Given the description of an element on the screen output the (x, y) to click on. 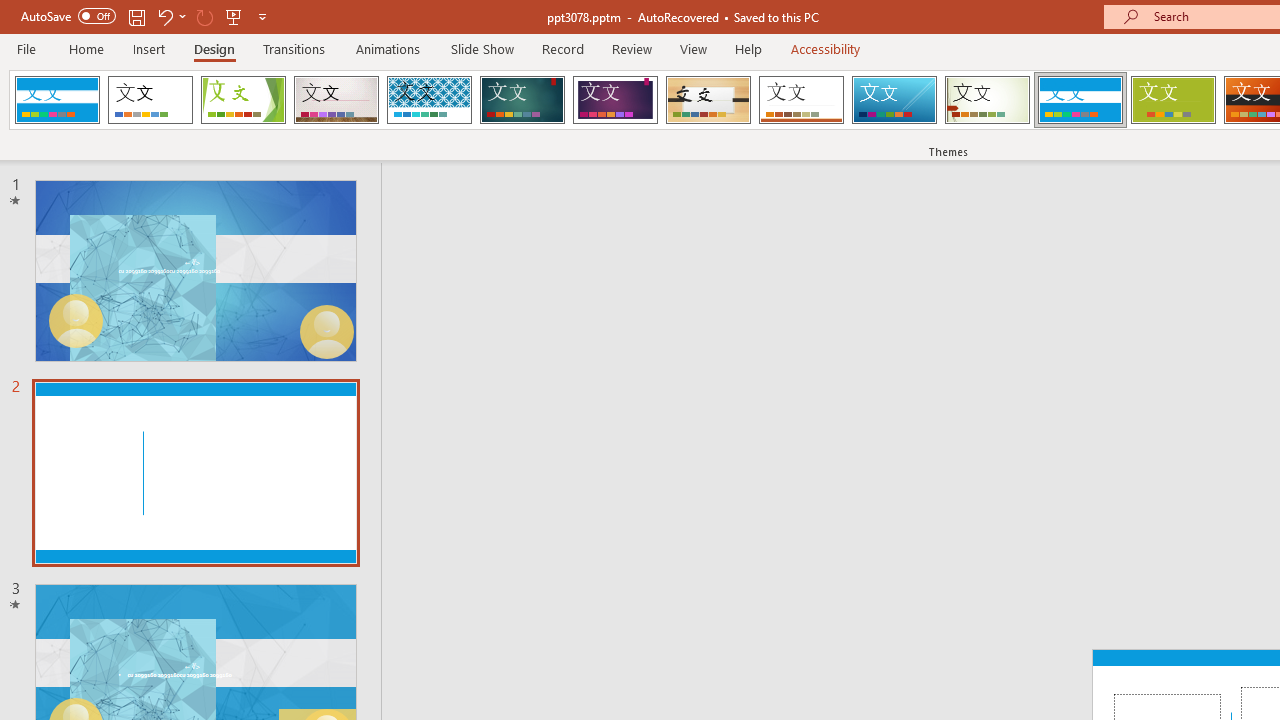
Ion (522, 100)
Integral (429, 100)
